Given the description of an element on the screen output the (x, y) to click on. 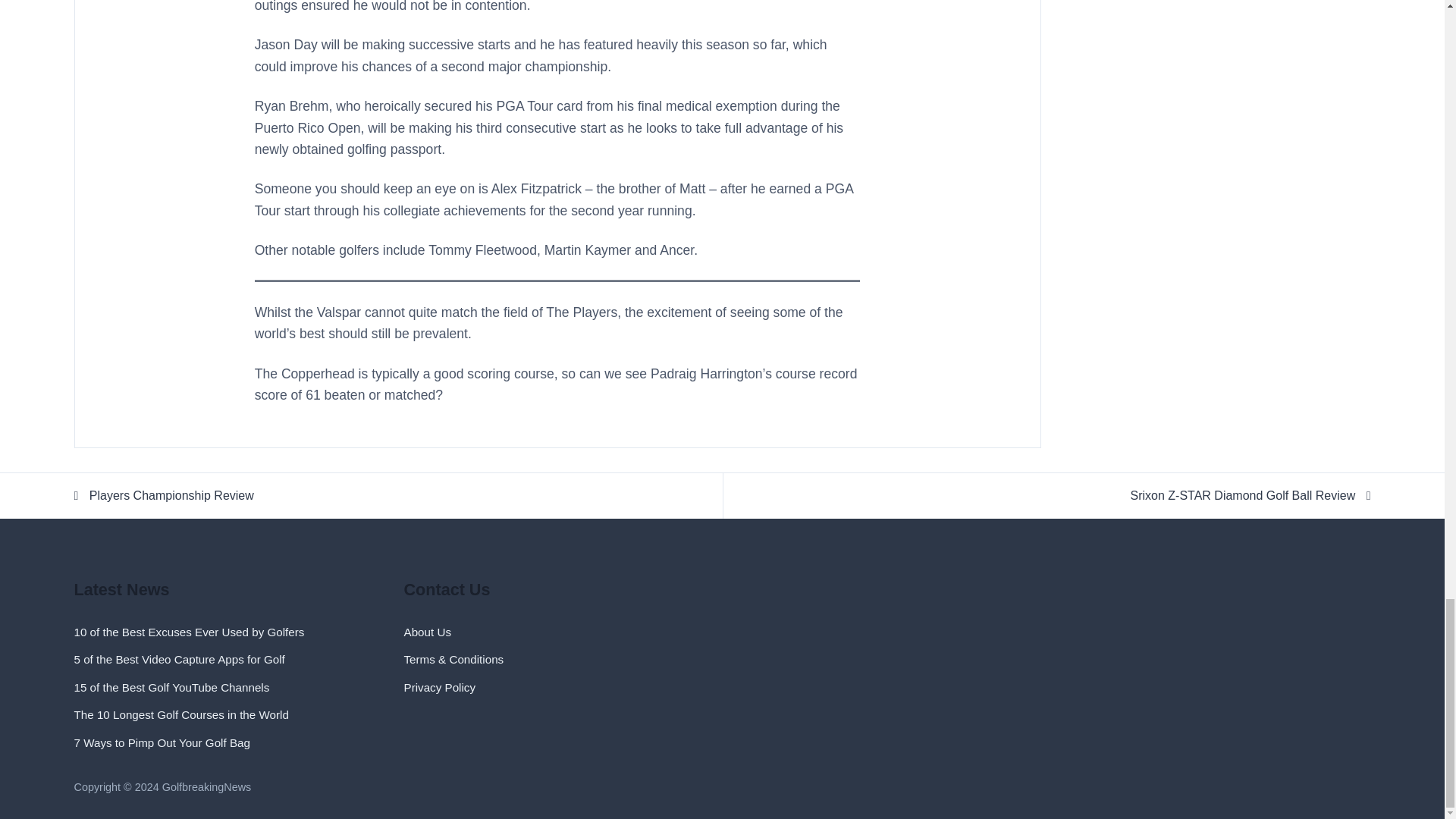
The 10 Longest Golf Courses in the World (181, 714)
10 of the Best Excuses Ever Used by Golfers (189, 631)
15 of the Best Golf YouTube Channels (171, 687)
Srixon Z-STAR Diamond Golf Ball Review (1047, 495)
Players Championship Review (398, 495)
5 of the Best Video Capture Apps for Golf (179, 658)
About Us (426, 631)
7 Ways to Pimp Out Your Golf Bag (162, 742)
Privacy Policy (439, 687)
